Given the description of an element on the screen output the (x, y) to click on. 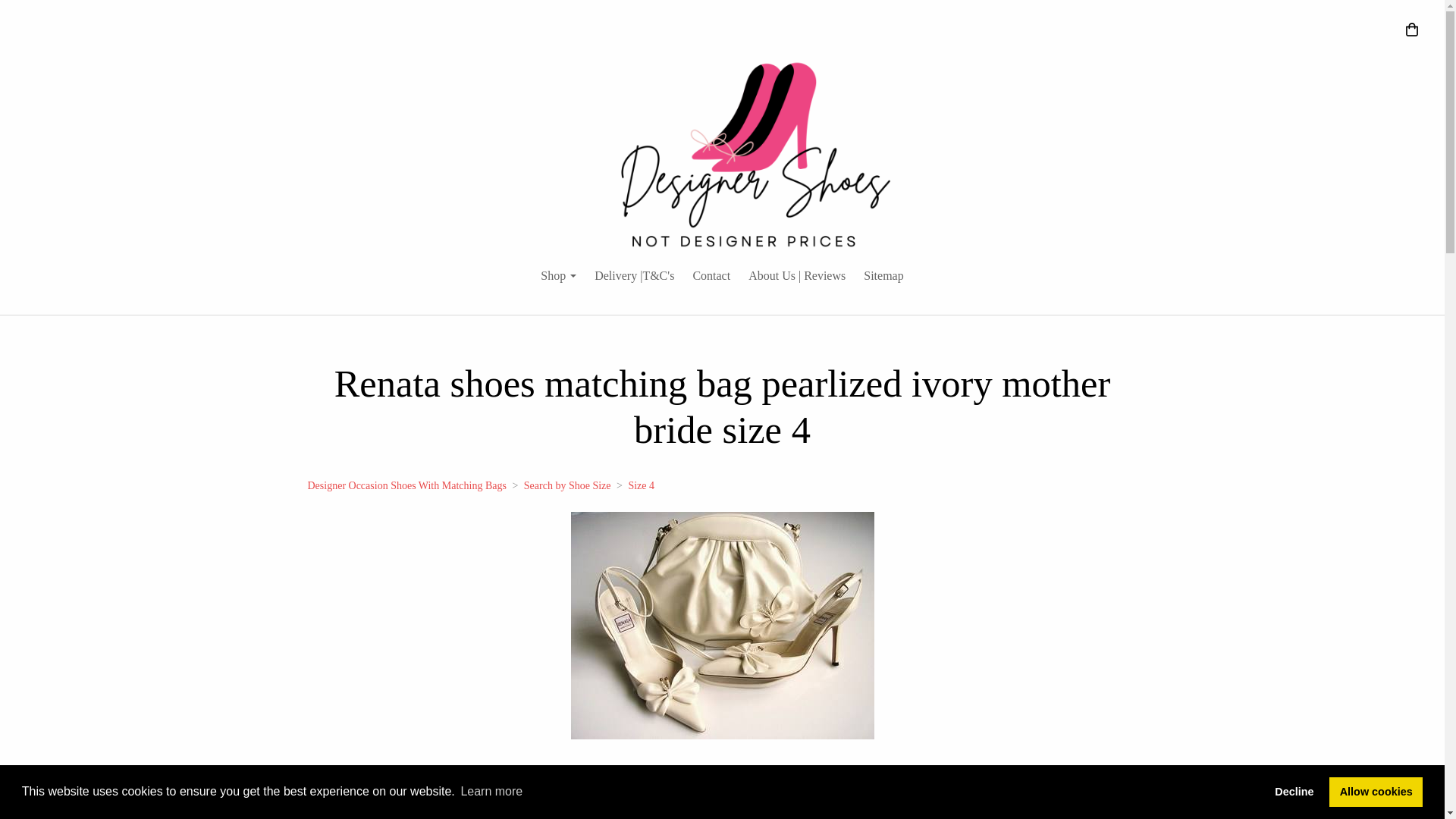
Learn more (491, 791)
Shop (558, 275)
Allow cookies (1375, 791)
Decline (1294, 791)
